Given the description of an element on the screen output the (x, y) to click on. 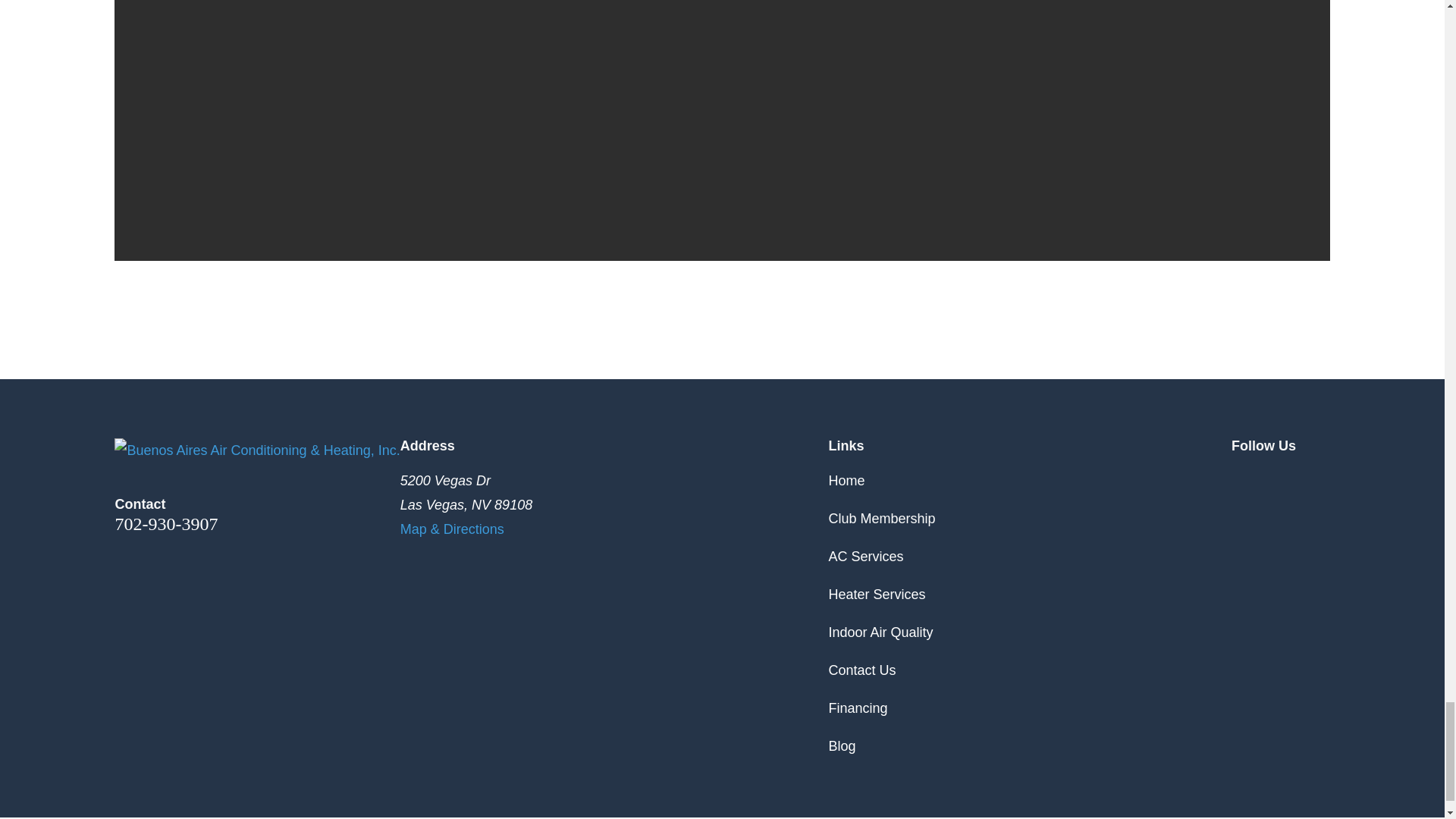
Home (256, 450)
Facebook (1280, 477)
Google Business Profile (1240, 477)
Yelp (1319, 477)
